Given the description of an element on the screen output the (x, y) to click on. 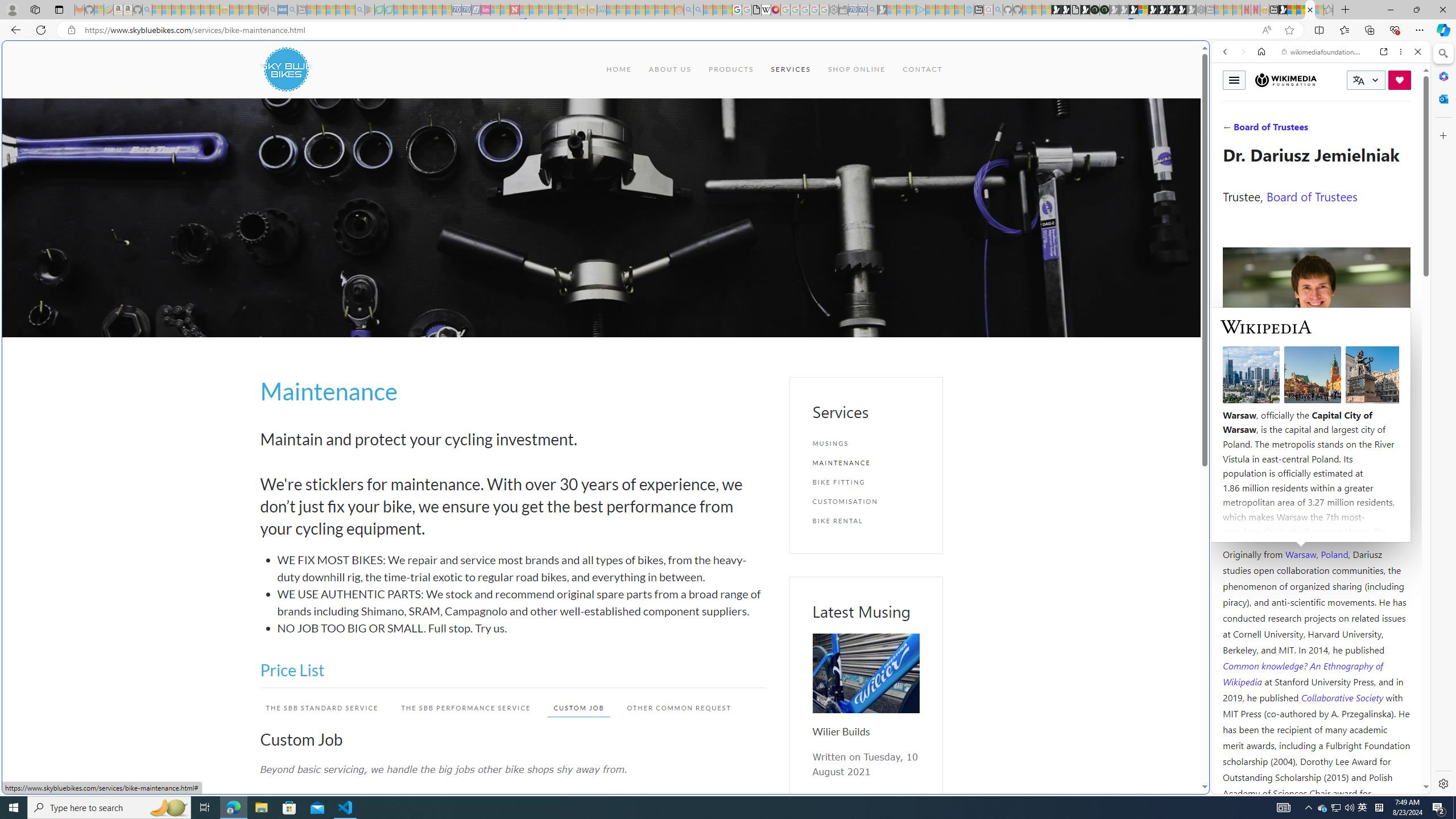
Toggle menu (1233, 80)
MAINTENANCE (865, 462)
utah sues federal government - Search (922, 389)
BIKE FITTING (865, 481)
Frequently visited (965, 151)
utah sues federal government - Search - Sleeping (291, 9)
